Given the description of an element on the screen output the (x, y) to click on. 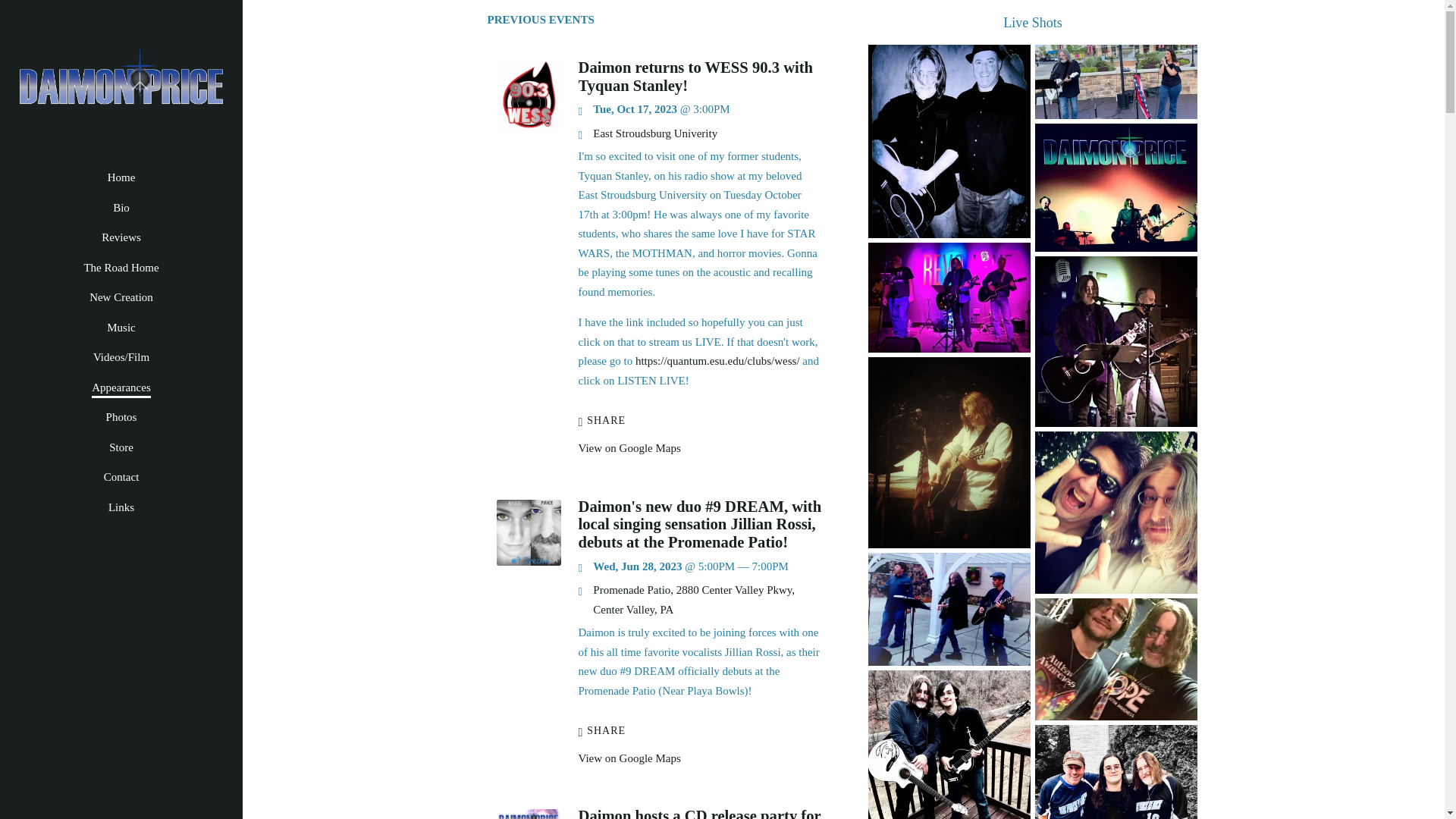
View on Google Maps (628, 448)
The Road Home (120, 268)
Daimon returns to WESS 90.3 with Tyquan Stanley! (528, 129)
Store (121, 447)
Visit venue website (654, 133)
Daimon returns to WESS 90.3 with Tyquan Stanley! (695, 76)
Home (121, 178)
View on Google Maps (628, 758)
View on Google Maps (693, 599)
Reviews (121, 238)
SHARE (602, 420)
Music (120, 328)
Appearances (120, 388)
New Creation (120, 297)
